Given the description of an element on the screen output the (x, y) to click on. 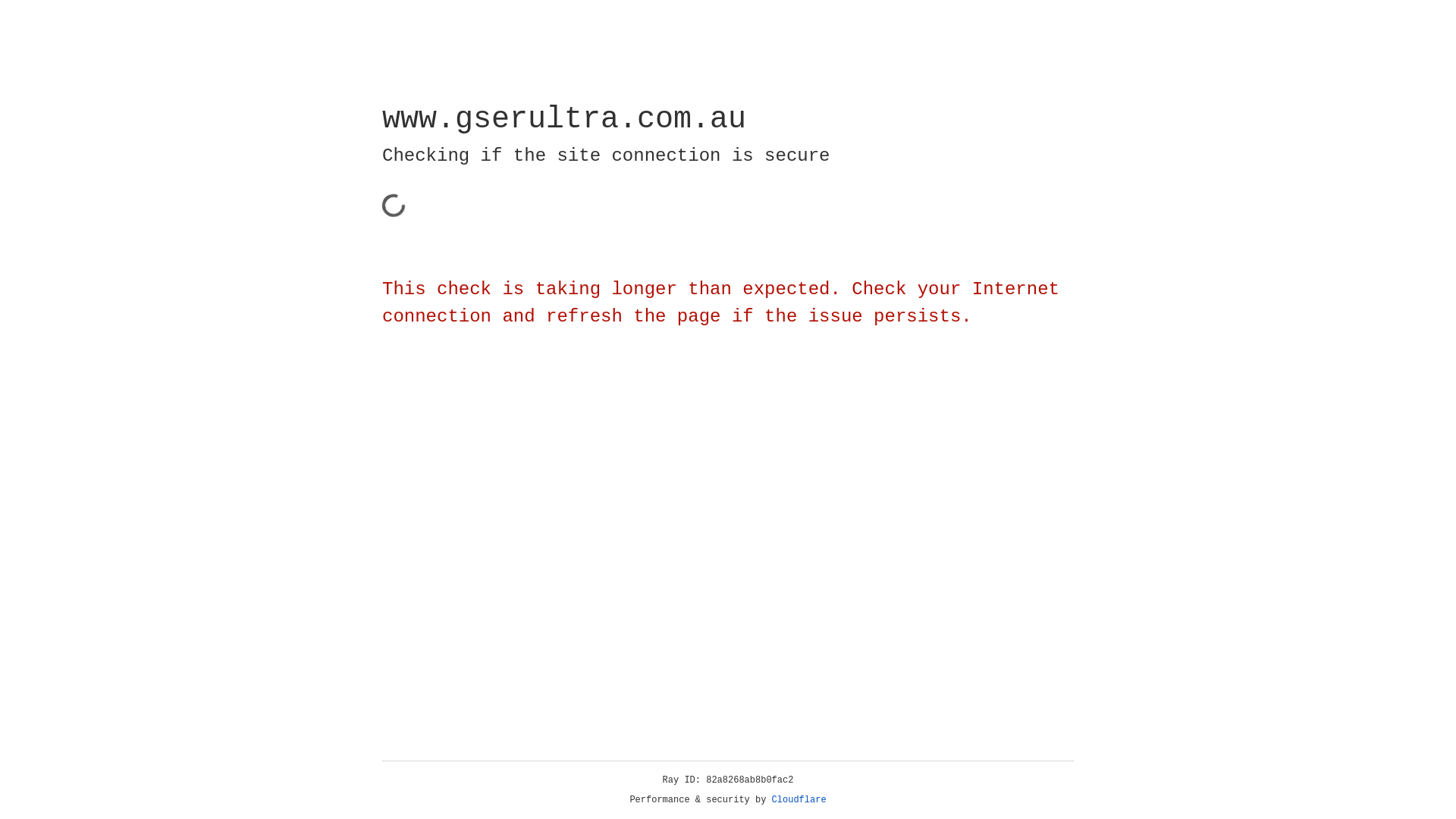
Cloudflare Element type: text (798, 799)
